Given the description of an element on the screen output the (x, y) to click on. 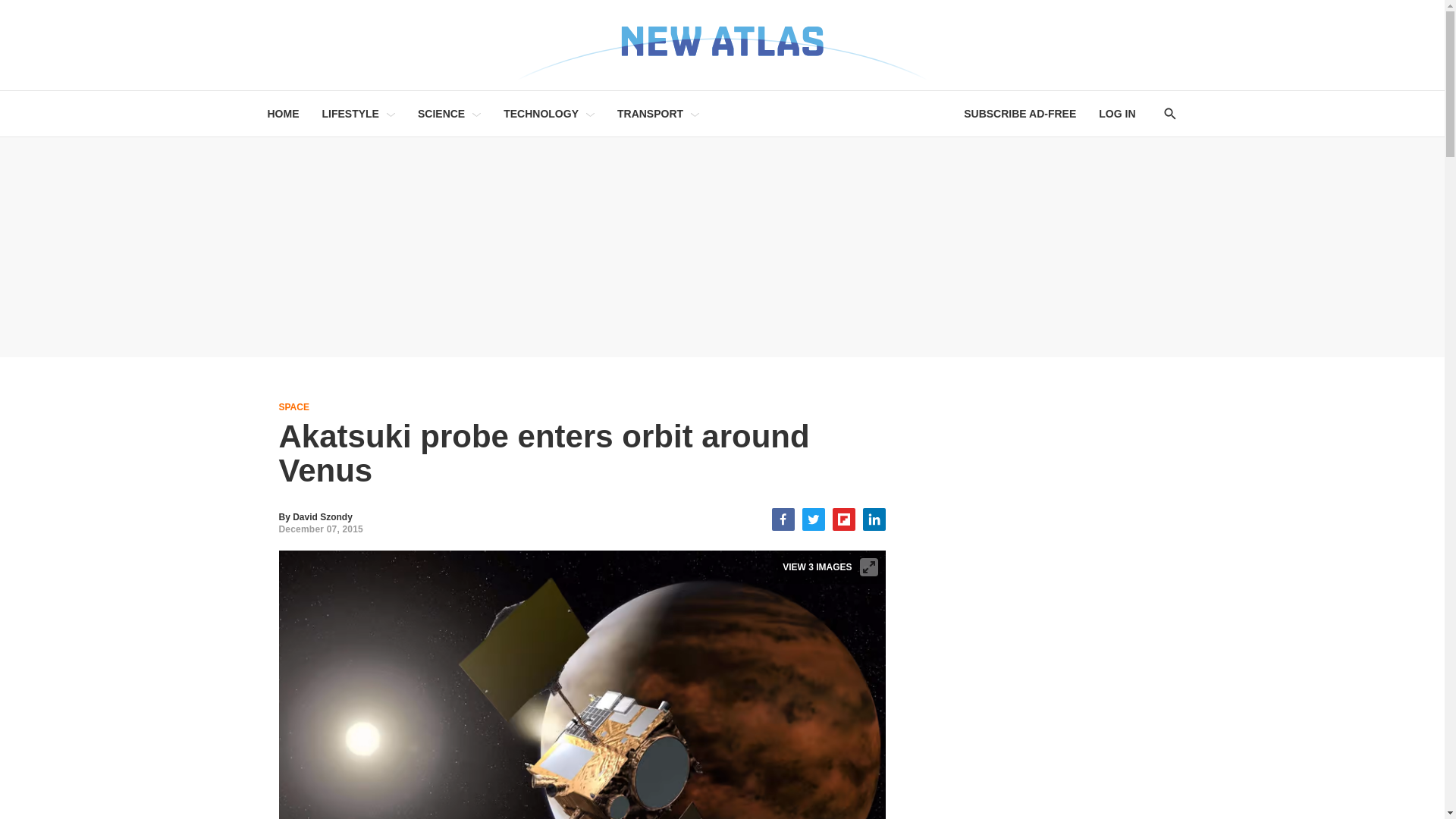
View full-screen (868, 566)
